Given the description of an element on the screen output the (x, y) to click on. 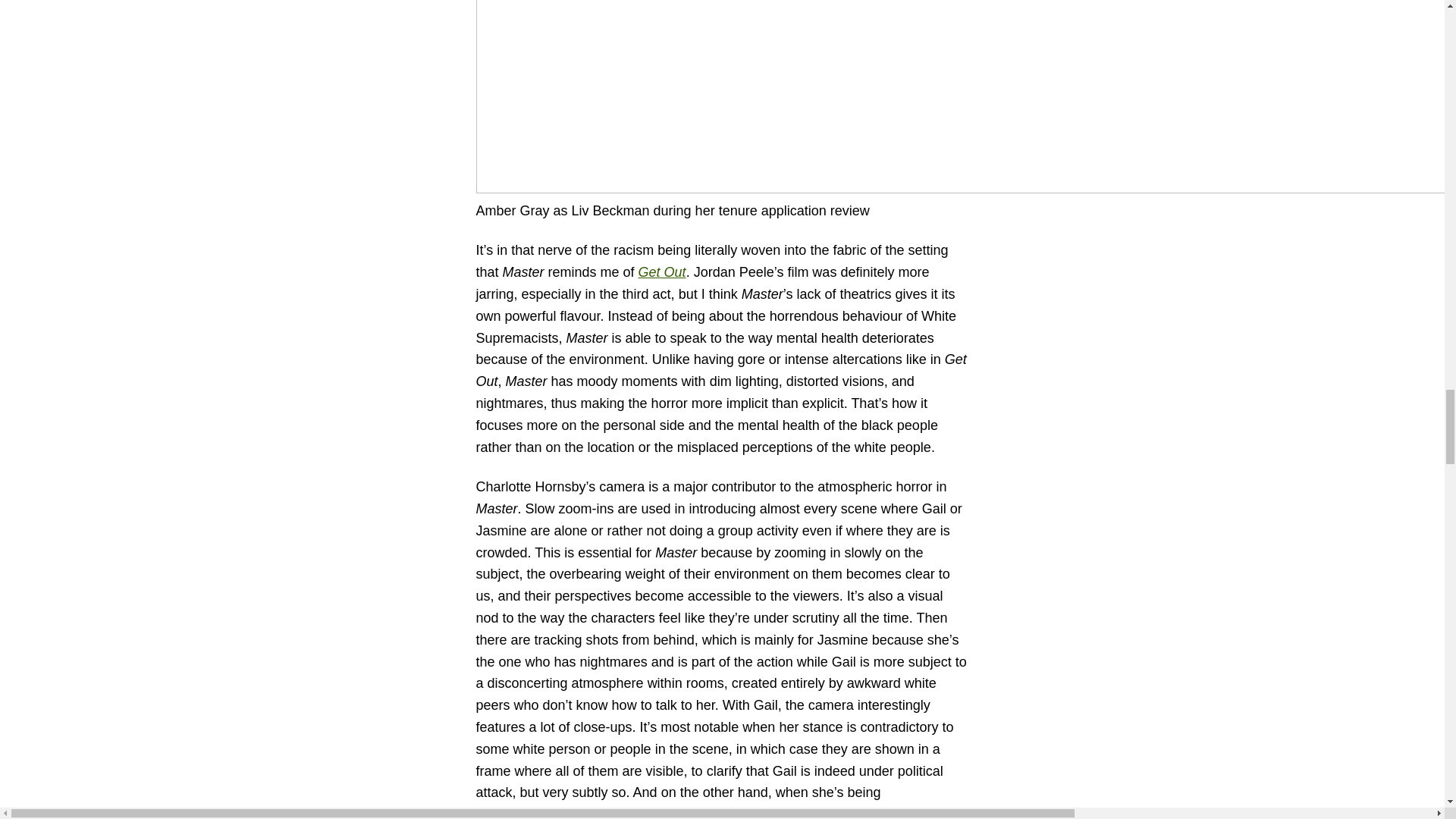
Get Out (662, 272)
